Given the description of an element on the screen output the (x, y) to click on. 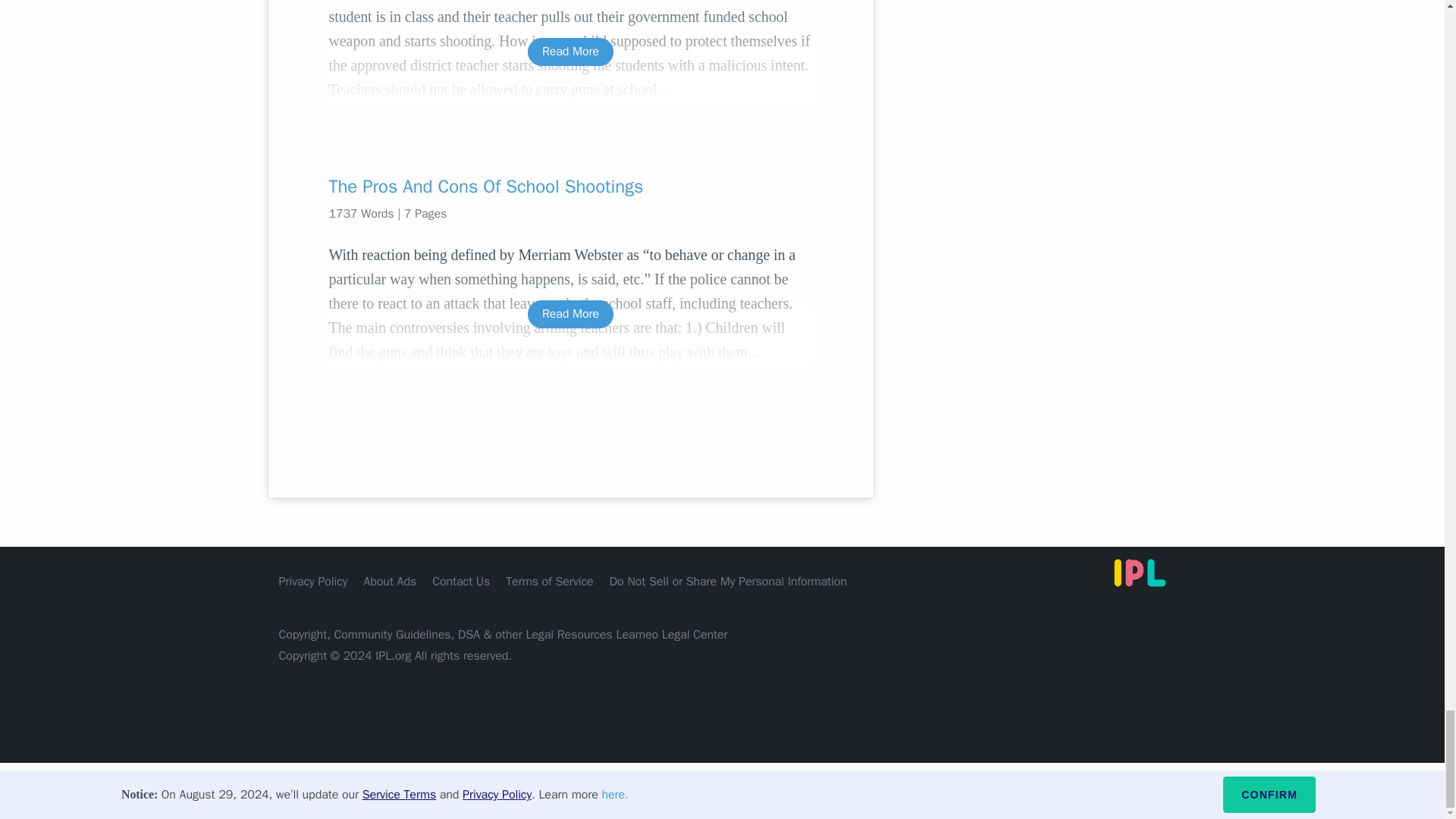
About Ads (389, 581)
Contact Us (460, 581)
Terms of Service (548, 581)
Privacy Policy (313, 581)
